Given the description of an element on the screen output the (x, y) to click on. 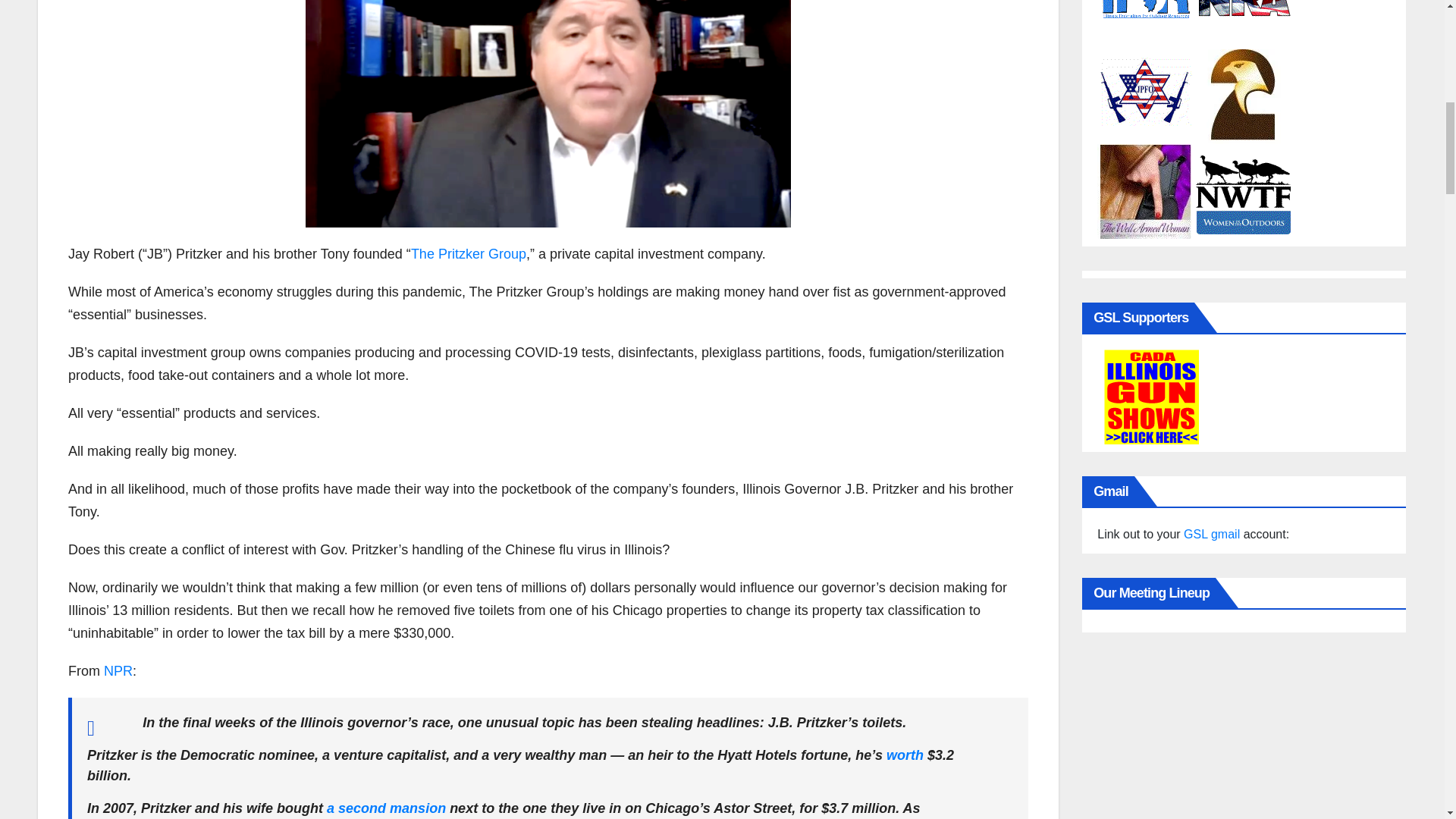
a second mansion (385, 807)
The Pritzker Group (467, 253)
NPR (117, 670)
worth (904, 754)
